Given the description of an element on the screen output the (x, y) to click on. 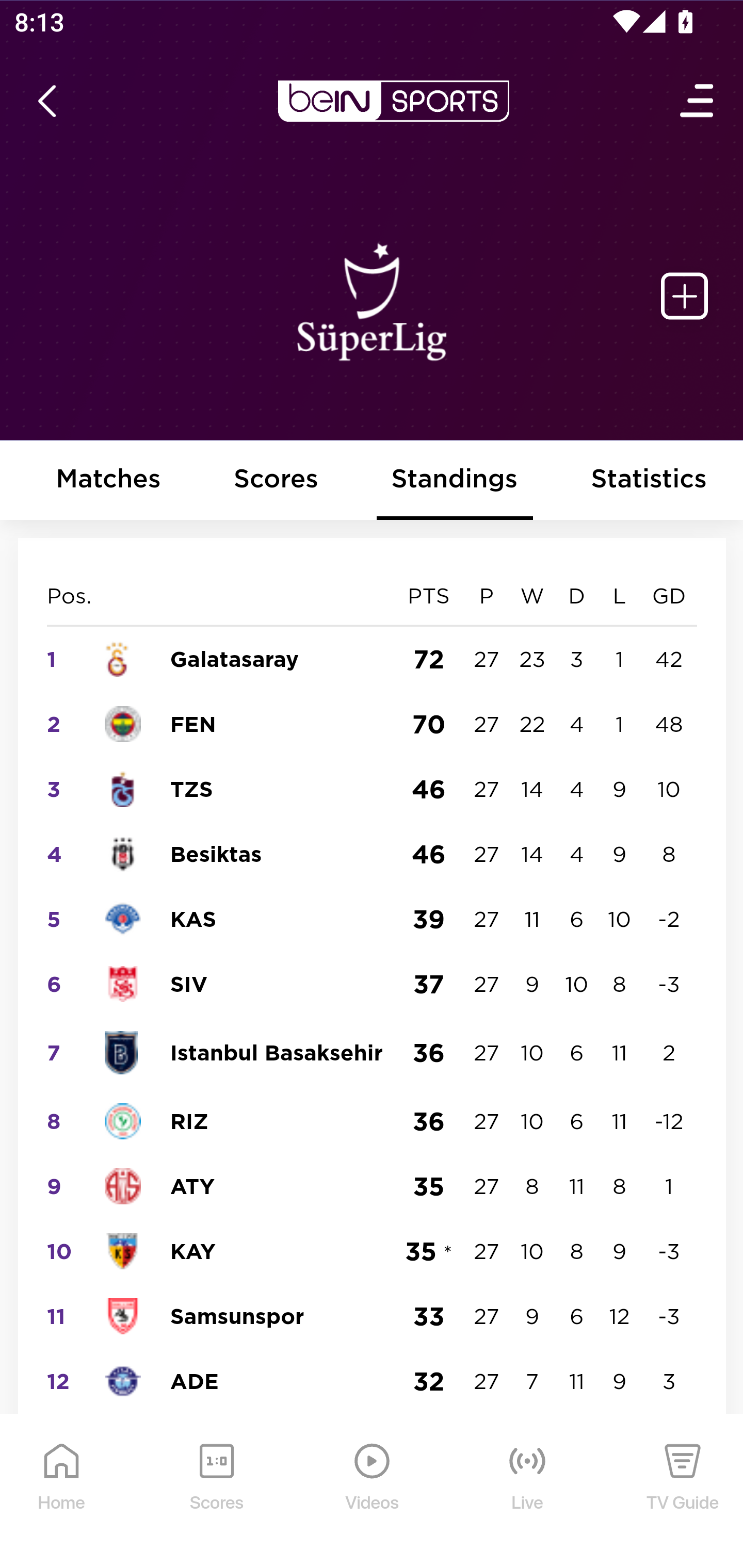
en-us?platform=mobile_android bein logo white (392, 101)
icon back (46, 101)
Open Menu Icon (697, 101)
Matches (107, 480)
Scores (275, 480)
Standings (454, 480)
Statistics (649, 480)
Galatasaray (234, 658)
FEN (192, 723)
TZS (191, 788)
Besiktas (216, 854)
KAS (193, 918)
SIV (189, 983)
Istanbul Basaksehir (276, 1051)
RIZ (189, 1120)
ATY (192, 1184)
KAY (192, 1250)
Samsunspor (236, 1315)
ADE (194, 1380)
Home Home Icon Home (61, 1491)
Scores Scores Icon Scores (216, 1491)
Videos Videos Icon Videos (372, 1491)
TV Guide TV Guide Icon TV Guide (682, 1491)
